Given the description of an element on the screen output the (x, y) to click on. 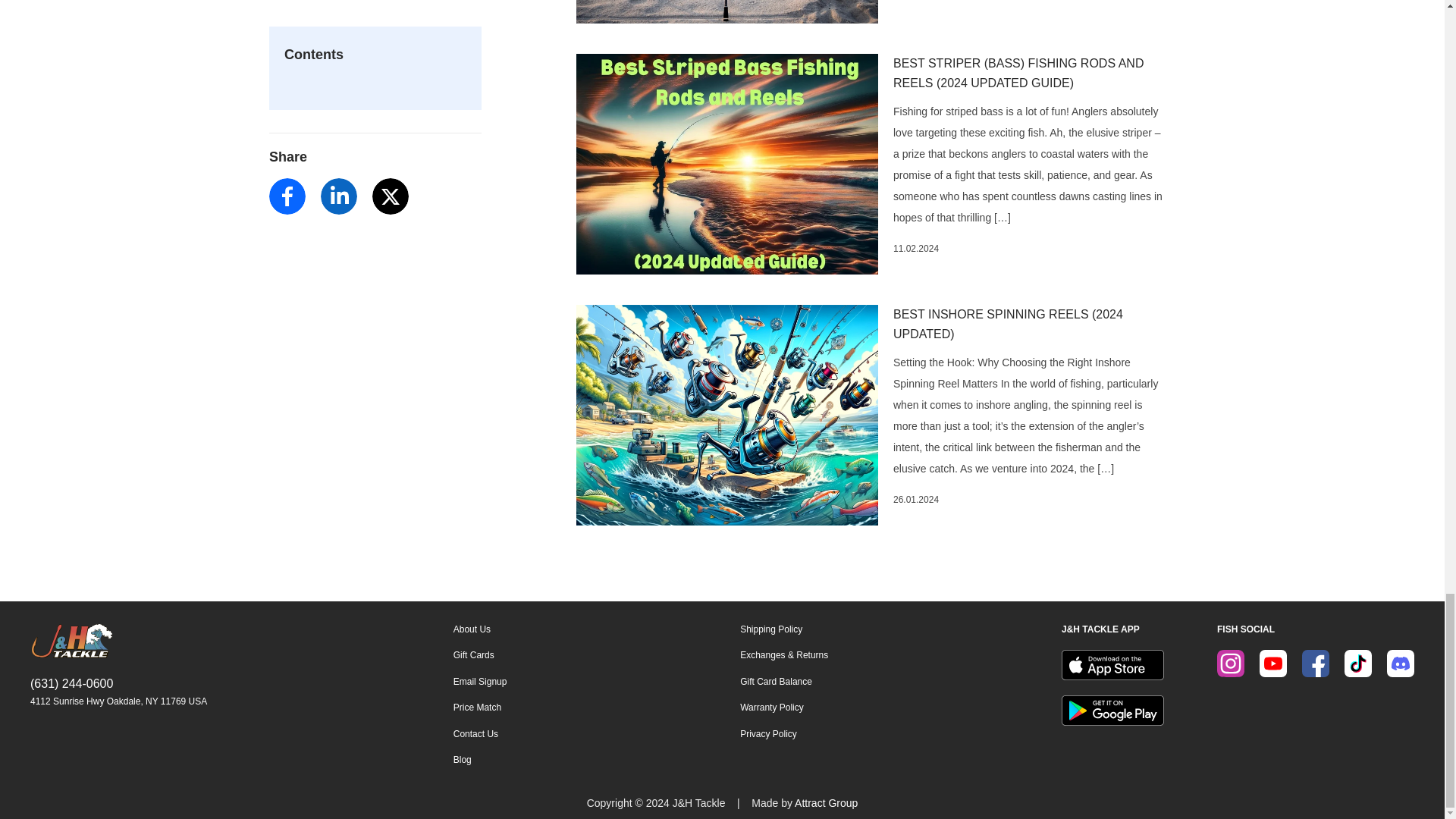
About Us (479, 629)
Gift Card Balance (783, 681)
Contact Us (479, 733)
Blog (479, 759)
Email Signup (479, 681)
Gift Cards (479, 655)
Shipping Policy (783, 629)
Price Match (479, 706)
